Given the description of an element on the screen output the (x, y) to click on. 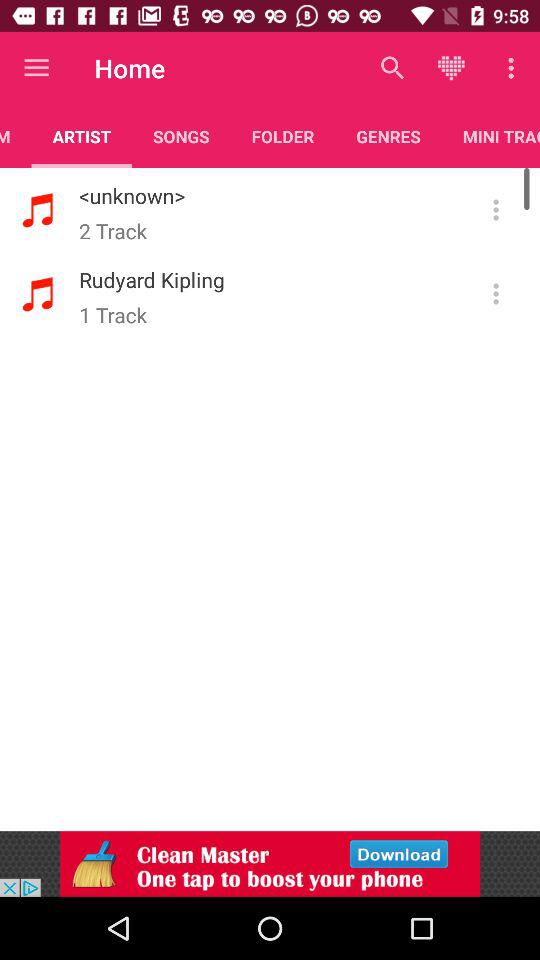
more information button (495, 209)
